Given the description of an element on the screen output the (x, y) to click on. 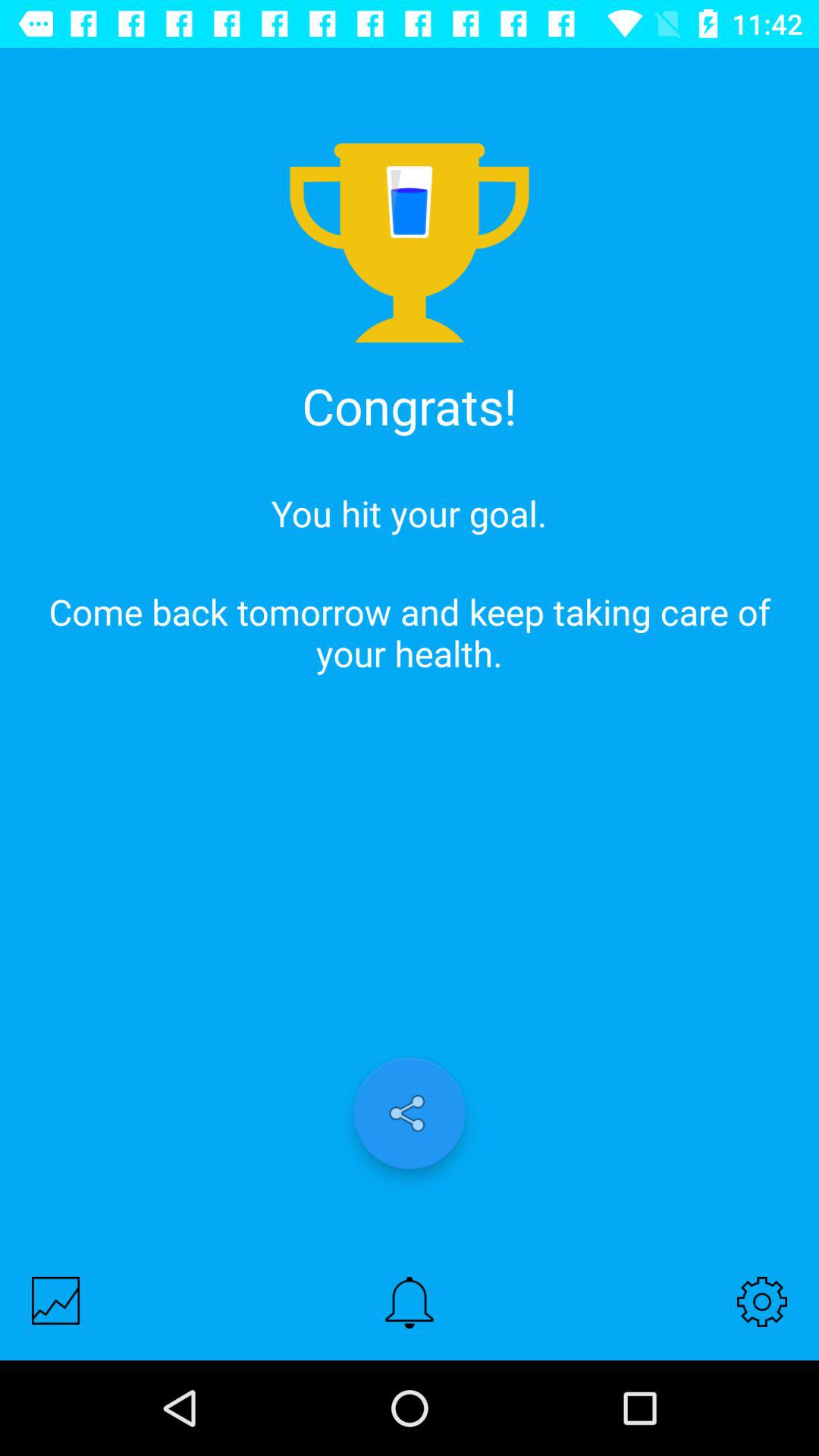
settings options (762, 1301)
